Given the description of an element on the screen output the (x, y) to click on. 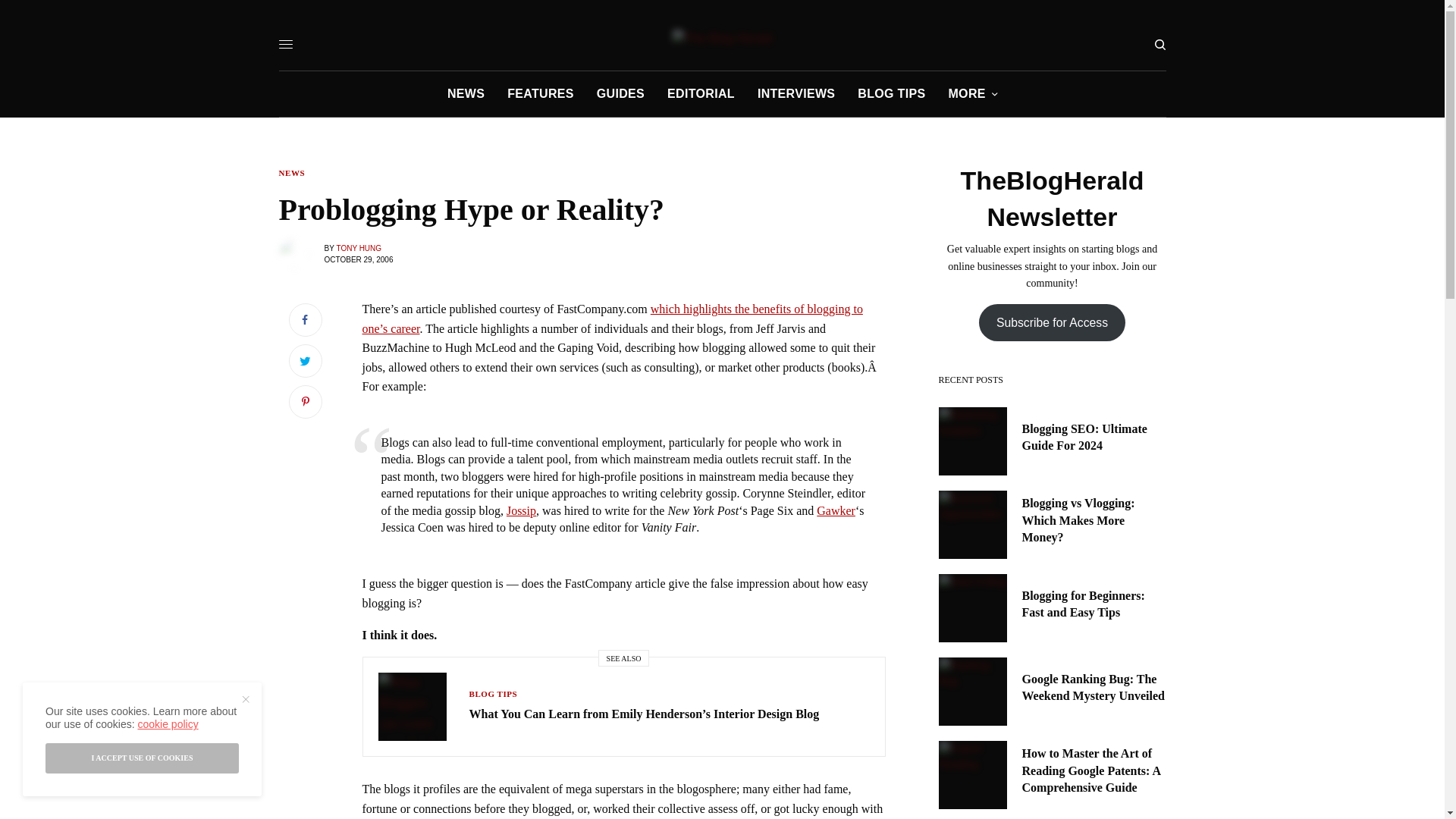
Posts by Tony Hung (358, 248)
EDITORIAL (700, 94)
Gawker (836, 510)
Blogging for Beginners: Fast and Easy Tips (1094, 604)
INTERVIEWS (795, 94)
The Blog Herald (722, 38)
Google Ranking Bug: The Weekend Mystery Unveiled (1094, 687)
NEWS (292, 172)
Subscribe for Access (1051, 322)
BLOG TIPS (890, 94)
MORE (972, 94)
FEATURES (539, 94)
TONY HUNG (358, 248)
GUIDES (620, 94)
